Given the description of an element on the screen output the (x, y) to click on. 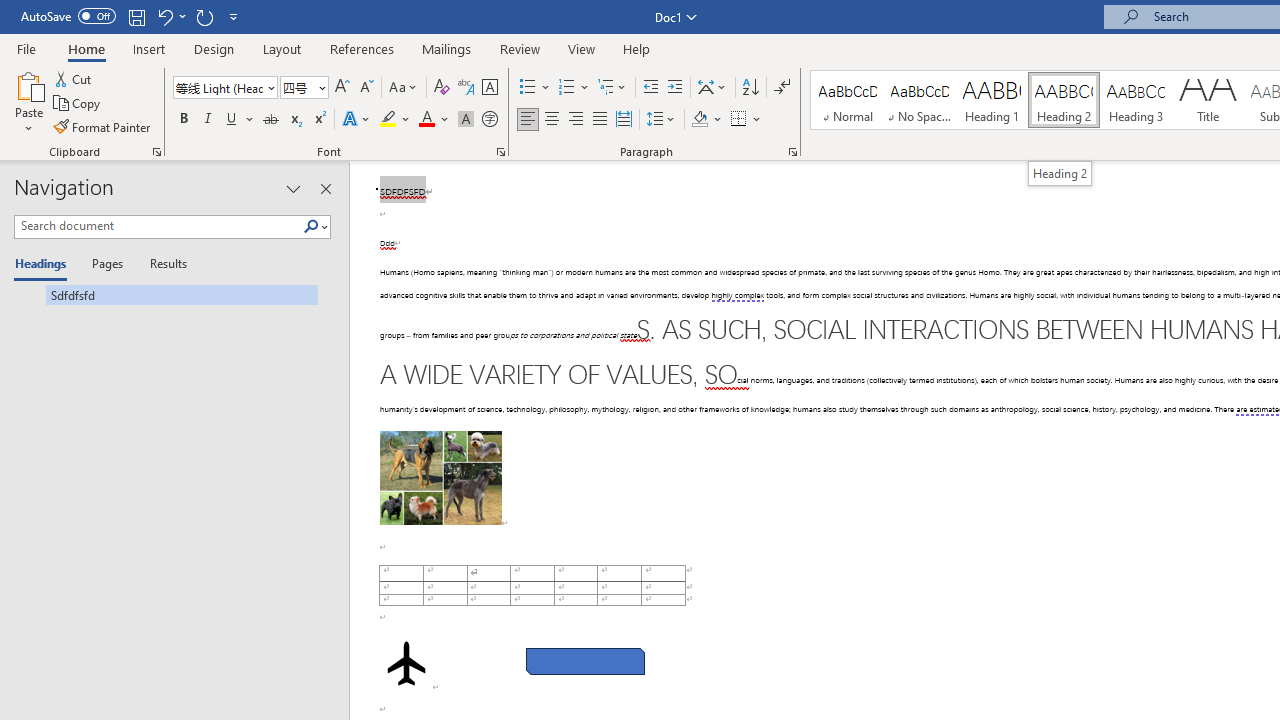
Sdfdfsfd (166, 294)
Undo Apply Quick Style (170, 15)
Enclose Characters... (489, 119)
